Given the description of an element on the screen output the (x, y) to click on. 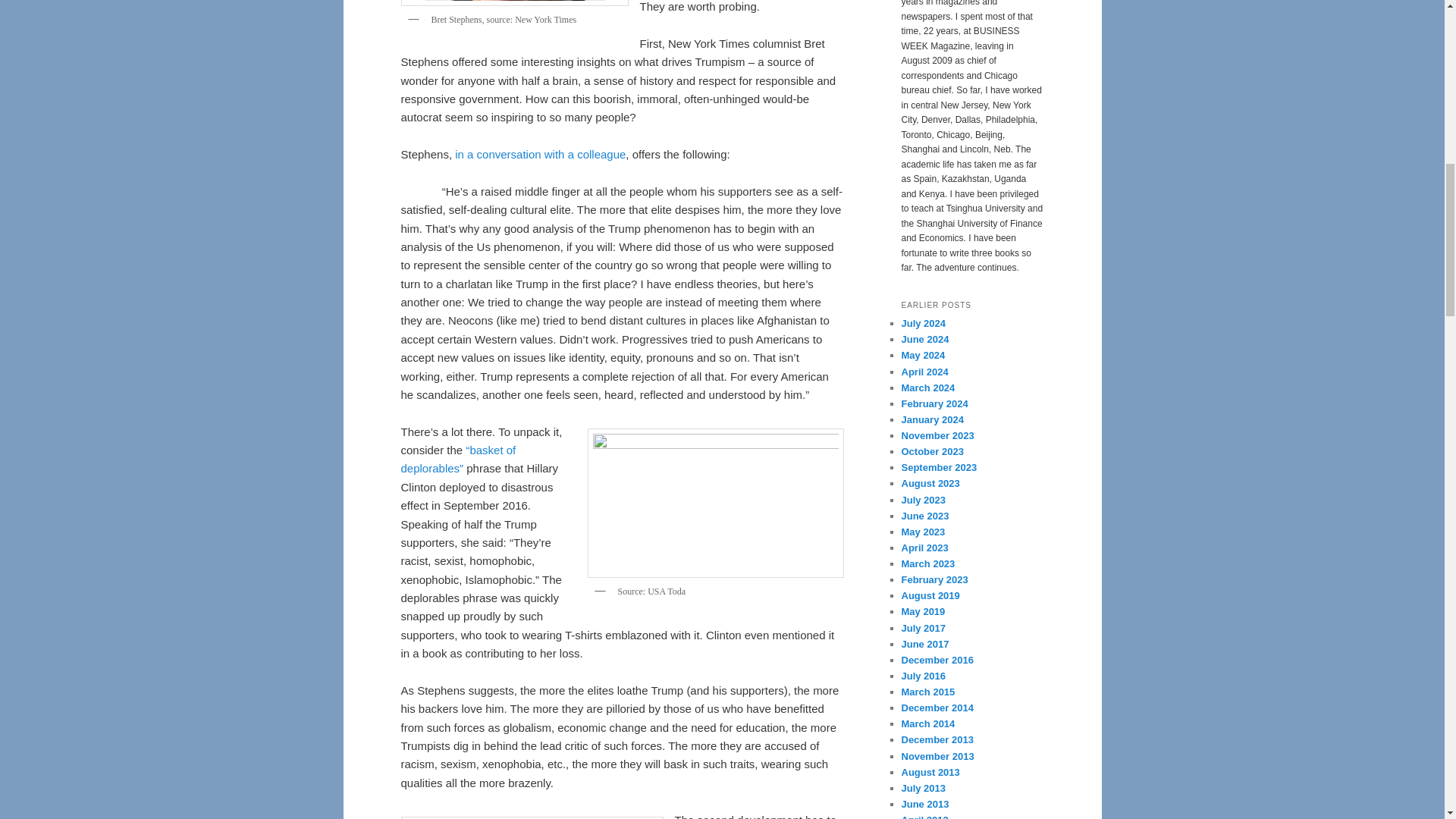
in a conversation with a colleague (540, 154)
